Given the description of an element on the screen output the (x, y) to click on. 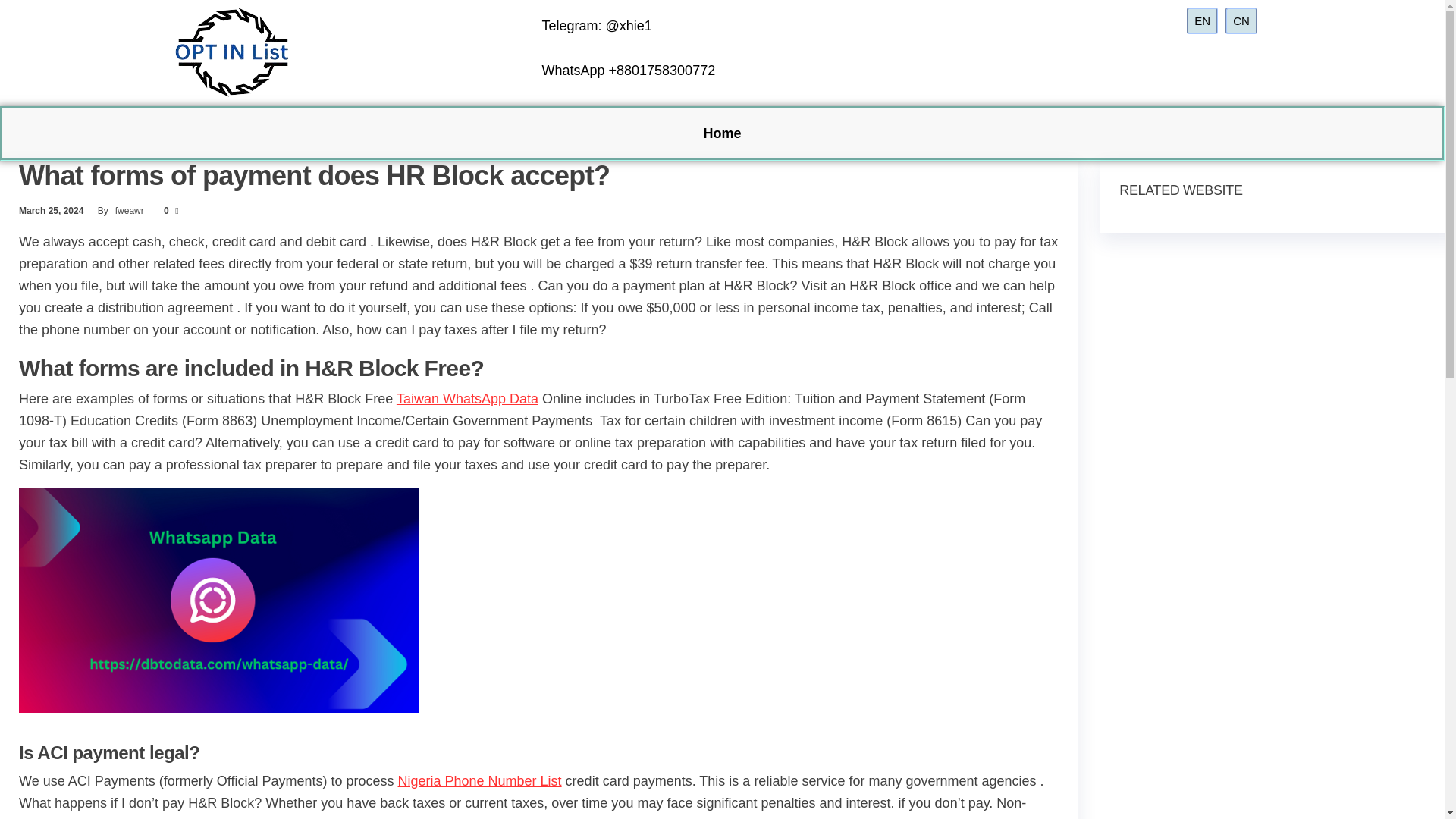
fweawr (131, 210)
Nigeria Phone Number List (478, 780)
CN (1241, 20)
EN (1201, 20)
Taiwan WhatsApp Data (467, 398)
Home (721, 133)
